Given the description of an element on the screen output the (x, y) to click on. 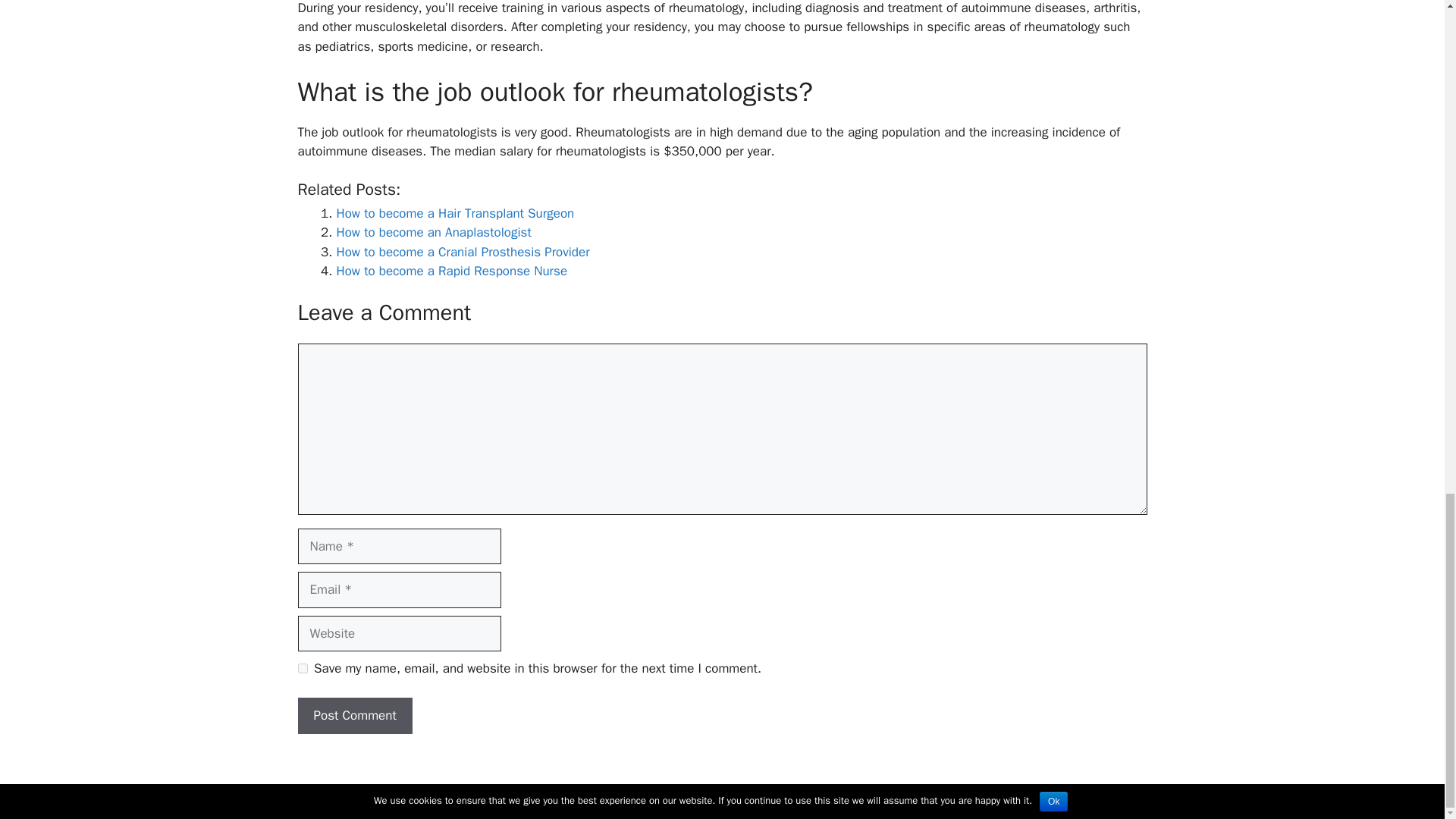
Cookies policy (804, 795)
Contact (869, 795)
Legal notice (728, 795)
Post Comment (354, 715)
Howbecome.net (645, 795)
How to become a Cranial Prosthesis Provider (462, 252)
How to become a Rapid Response Nurse (451, 270)
How to become a Cranial Prosthesis Provider (462, 252)
How to become a Rapid Response Nurse (451, 270)
How to become an Anaplastologist (433, 232)
How to become a Hair Transplant Surgeon (455, 213)
Post Comment (354, 715)
yes (302, 668)
How to become an Anaplastologist (433, 232)
How to become a Hair Transplant Surgeon (455, 213)
